Given the description of an element on the screen output the (x, y) to click on. 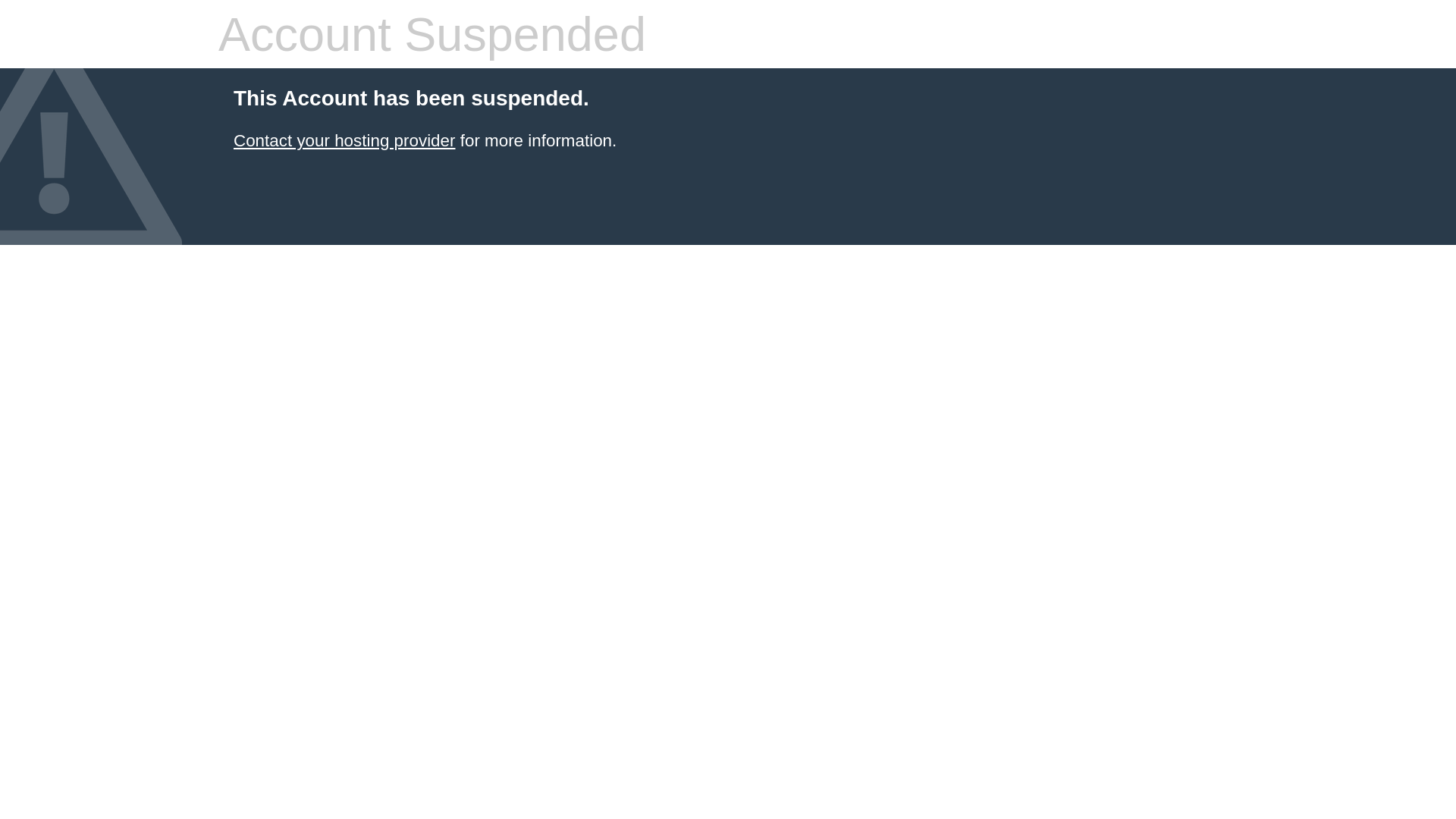
Contact your hosting provider Element type: text (344, 140)
